Given the description of an element on the screen output the (x, y) to click on. 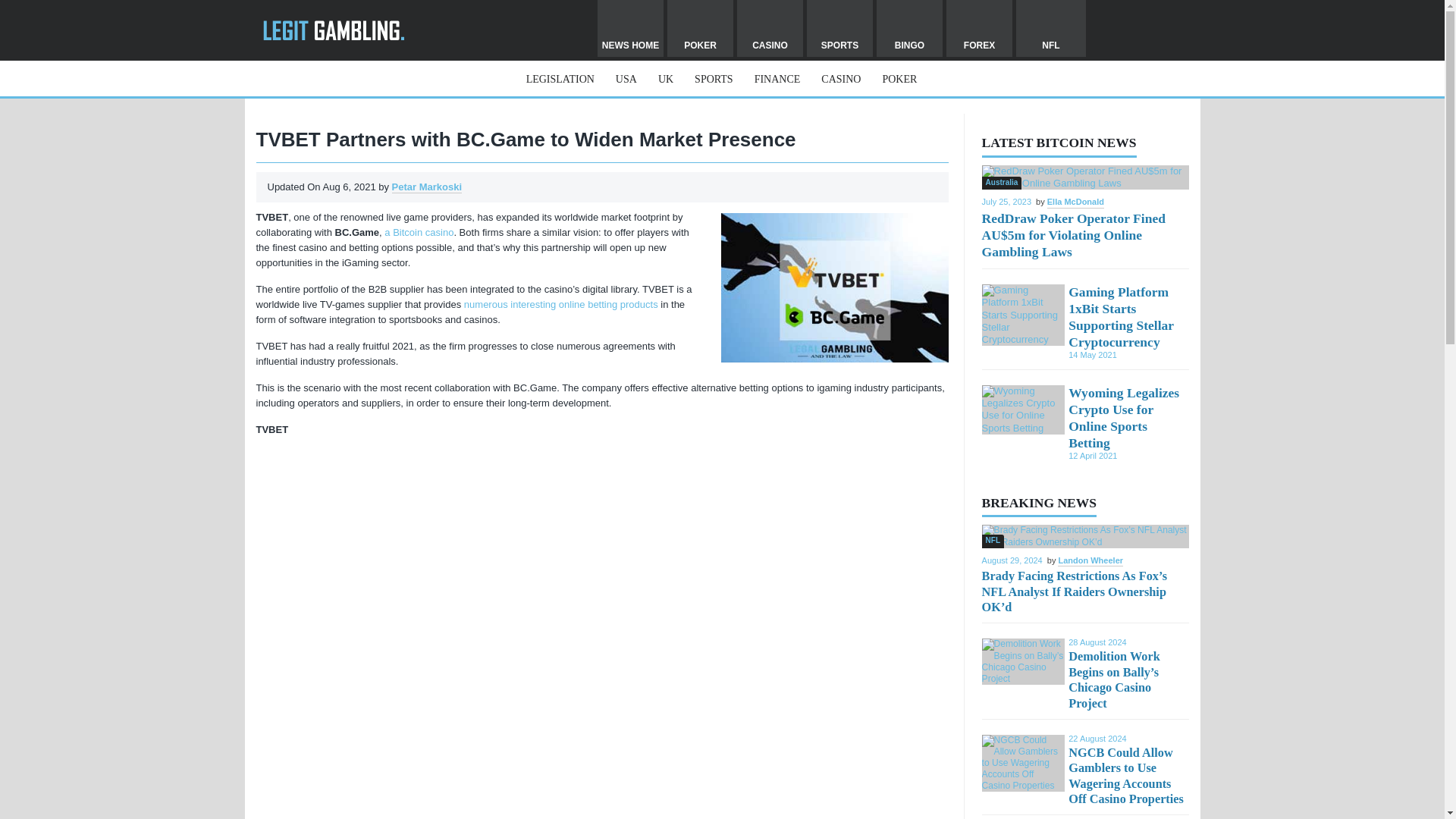
CASINO (840, 79)
a Bitcoin casino (418, 232)
LEGISLATION (560, 79)
POKER (899, 79)
NEWS HOME (629, 28)
Petar Markoski (427, 186)
POKER (699, 28)
UK (664, 79)
SPORTS (713, 79)
NFL (1051, 28)
